Given the description of an element on the screen output the (x, y) to click on. 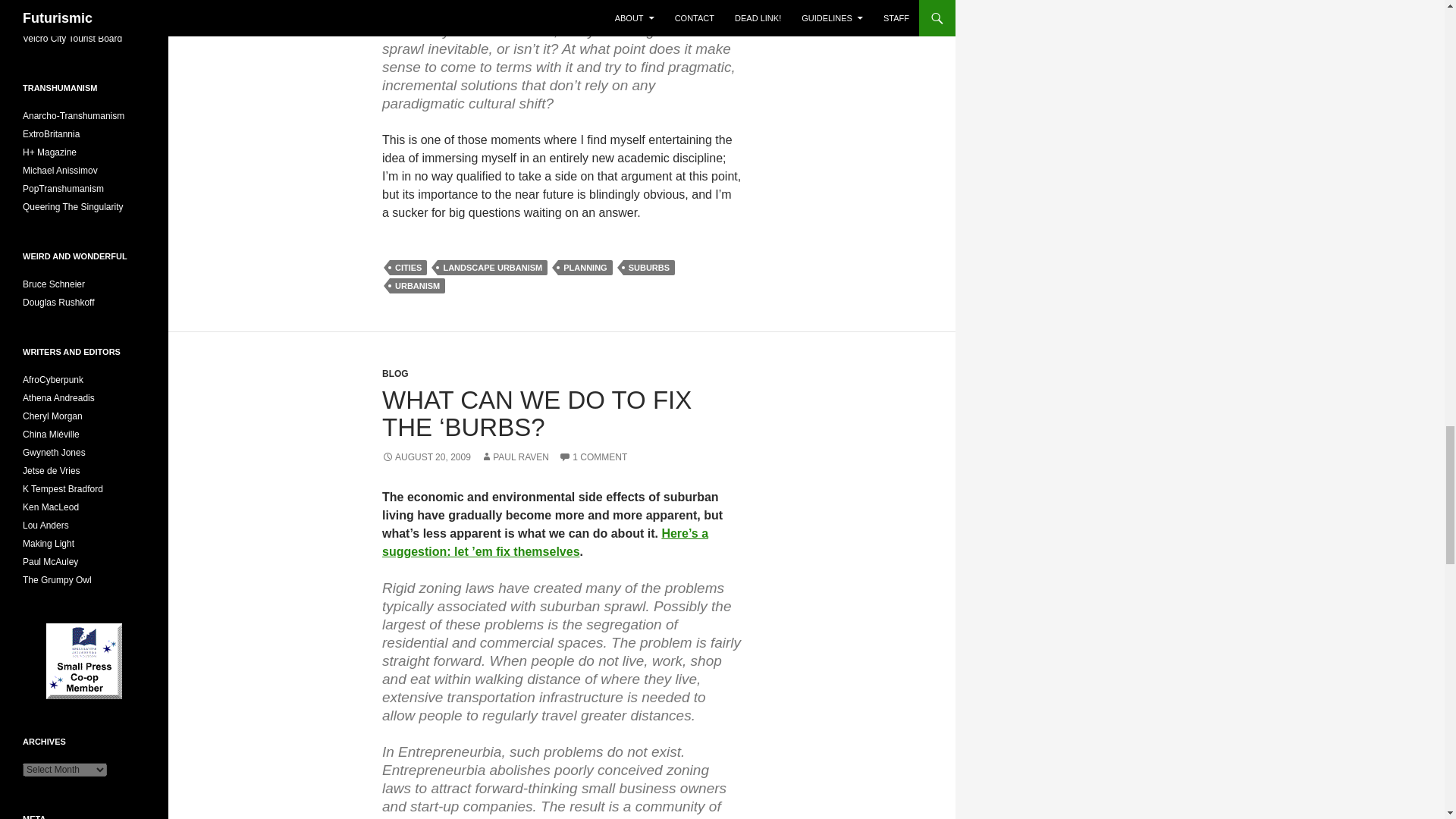
BLOG (395, 373)
PAUL RAVEN (514, 457)
1 COMMENT (593, 457)
SUBURBS (649, 267)
AUGUST 20, 2009 (425, 457)
PLANNING (584, 267)
CITIES (408, 267)
LANDSCAPE URBANISM (492, 267)
URBANISM (417, 285)
